Given the description of an element on the screen output the (x, y) to click on. 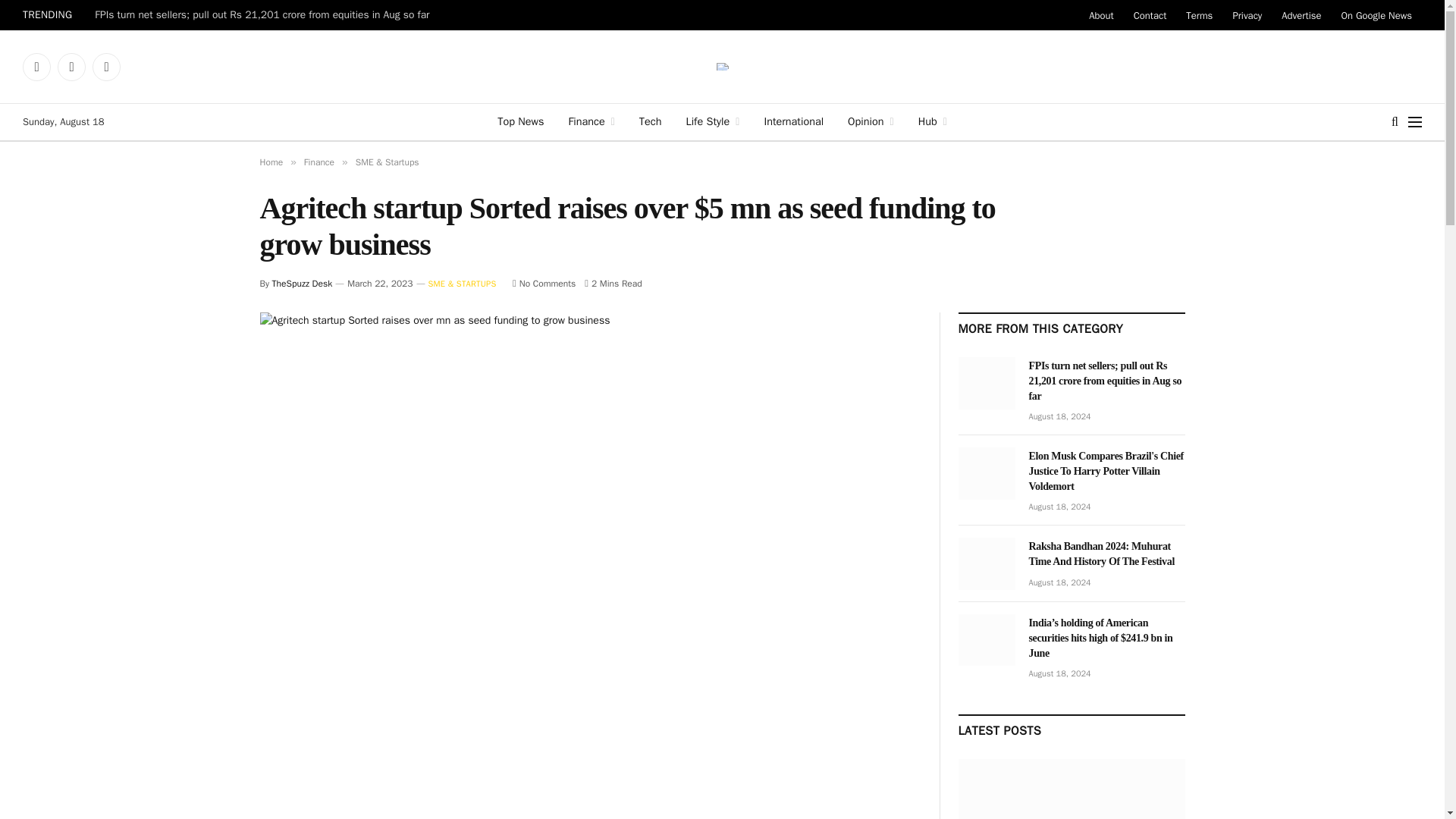
Top News (520, 122)
About (1100, 15)
Terms (1199, 15)
Privacy (1247, 15)
Facebook (36, 67)
Contact (1150, 15)
Pinterest (106, 67)
On Google News (1377, 15)
Advertise (1300, 15)
Finance (591, 122)
